Given the description of an element on the screen output the (x, y) to click on. 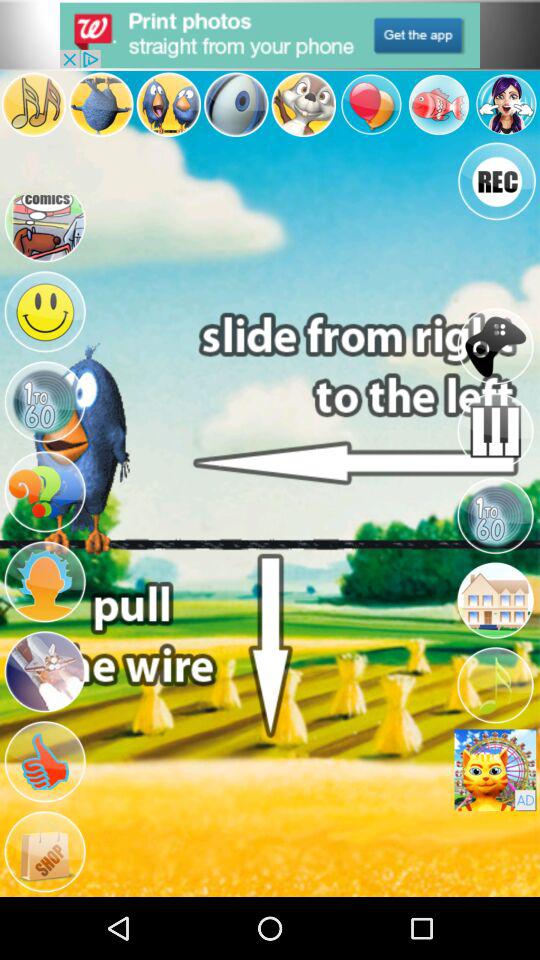
click on rec button (497, 181)
select the icon below joystick icon (494, 431)
select the second image in the first row (101, 104)
click on the icon which is above the music icon (494, 600)
go the icon which is in the first line sixth icon (371, 104)
select the image which is at the bottom right corner of the screen (494, 770)
